Given the description of an element on the screen output the (x, y) to click on. 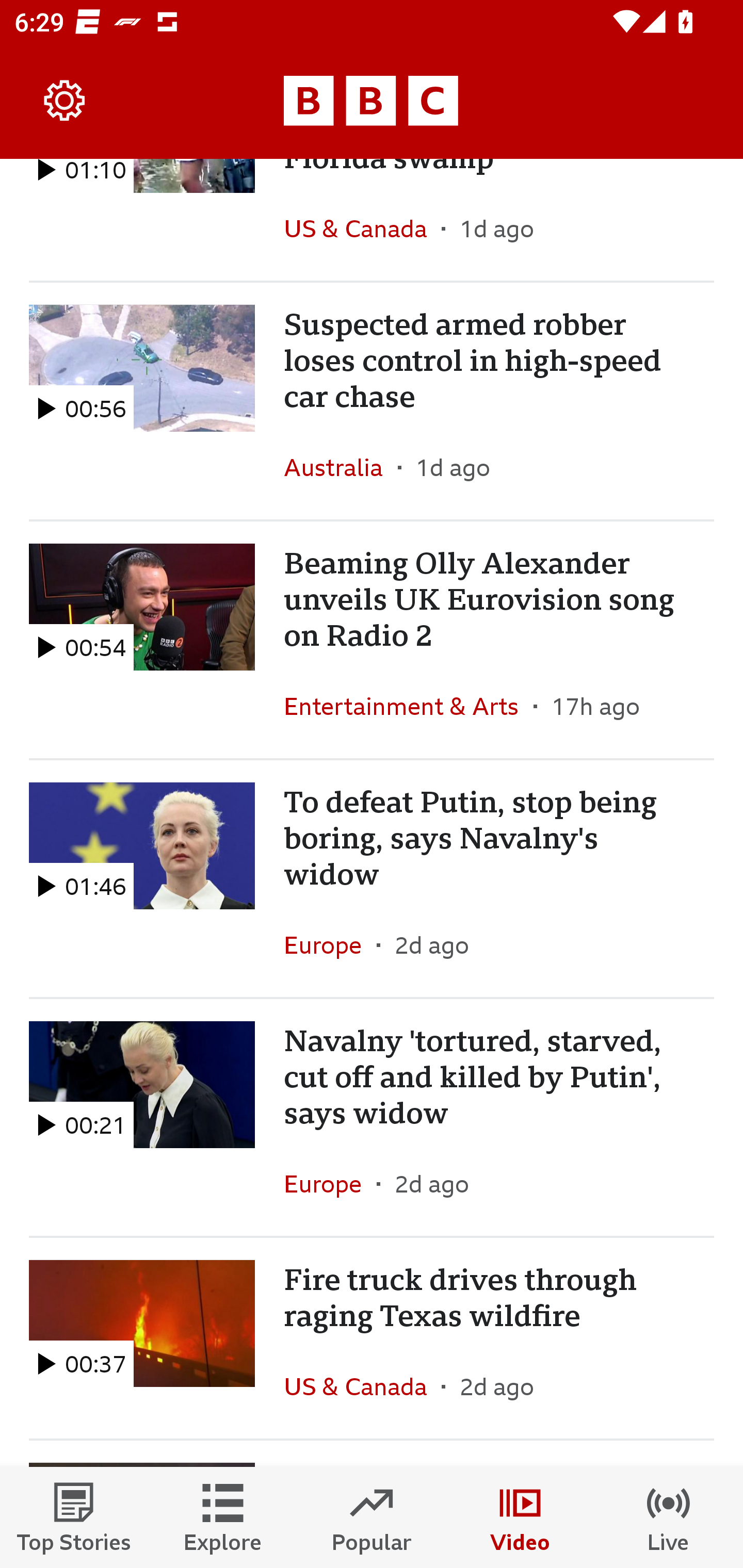
Settings (64, 100)
US & Canada In the section US & Canada (362, 227)
Australia In the section Australia (340, 467)
Europe In the section Europe (329, 944)
Europe In the section Europe (329, 1183)
US & Canada In the section US & Canada (362, 1385)
Top Stories (74, 1517)
Explore (222, 1517)
Popular (371, 1517)
Live (668, 1517)
